Given the description of an element on the screen output the (x, y) to click on. 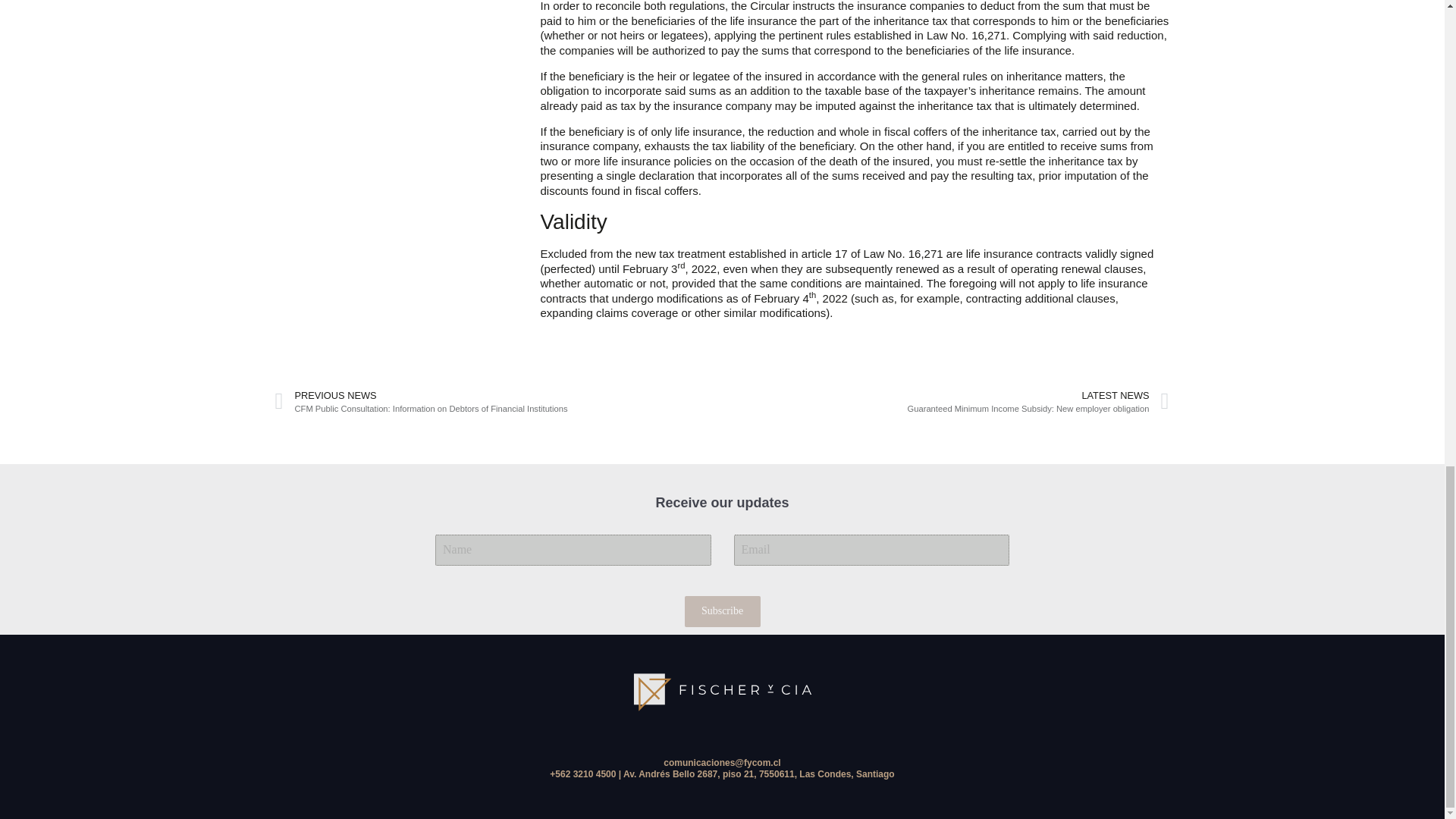
Subscribe (722, 611)
